Given the description of an element on the screen output the (x, y) to click on. 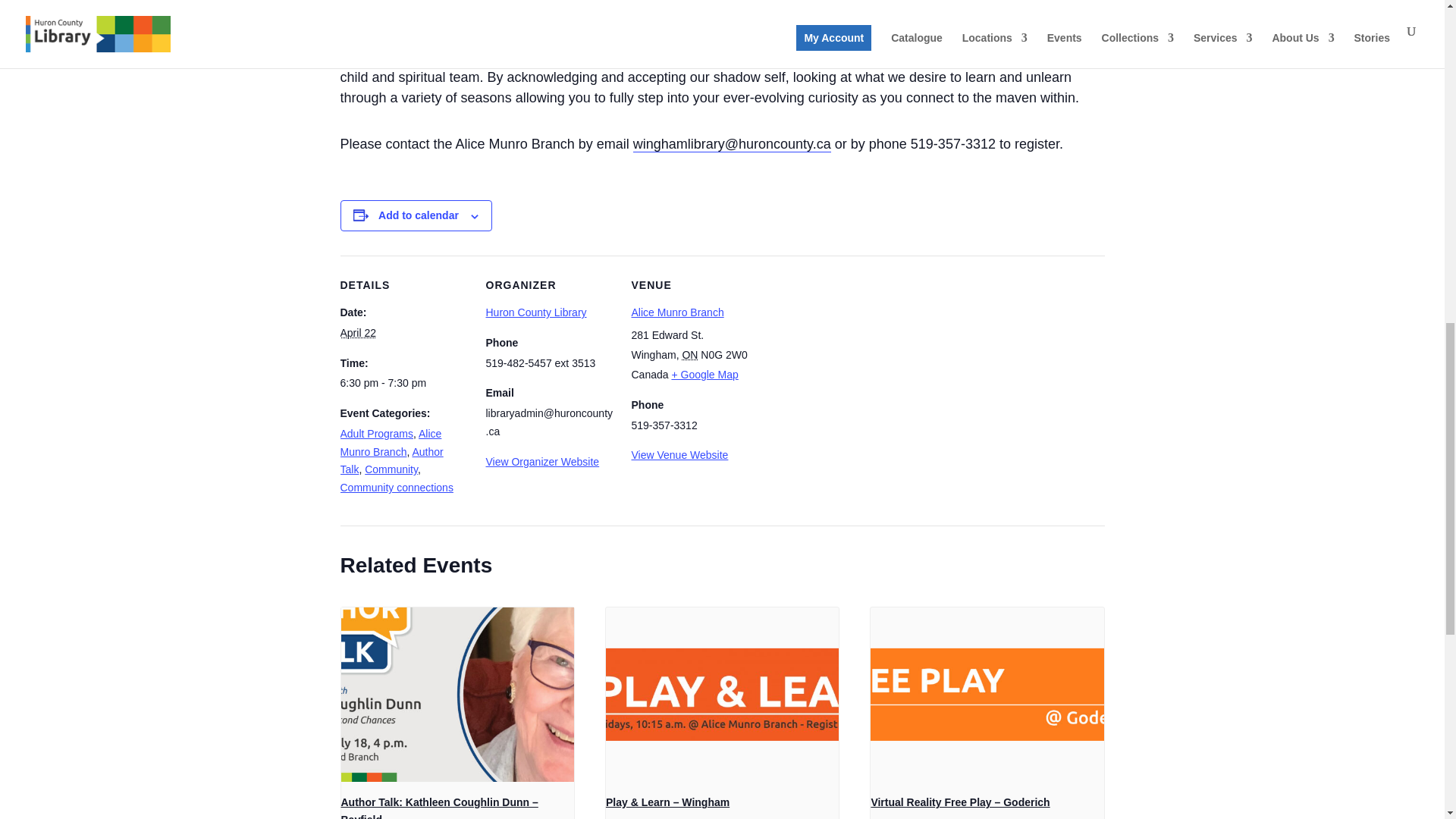
2024-04-22 (403, 383)
Huron County Library (535, 312)
ON (689, 354)
Click to view a Google Map (704, 374)
2024-04-22 (357, 332)
